Given the description of an element on the screen output the (x, y) to click on. 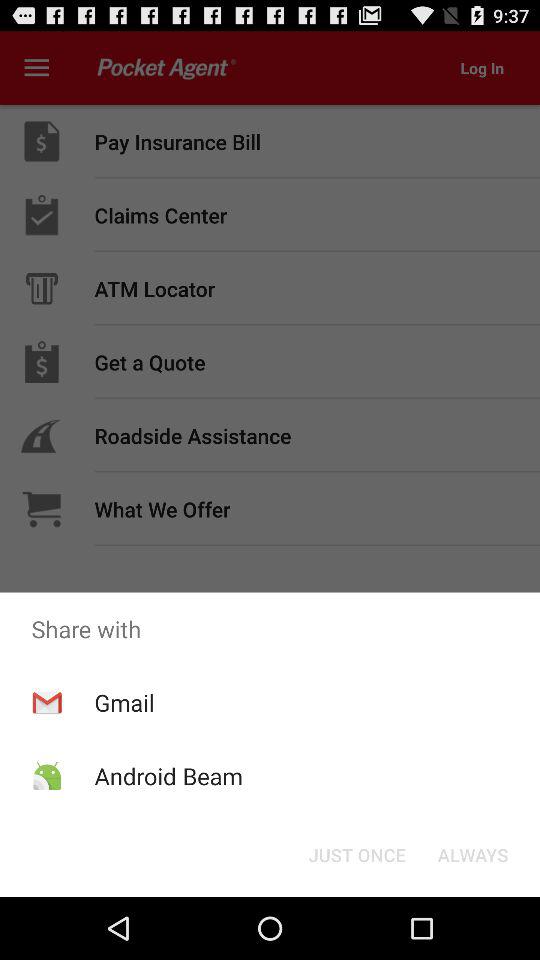
turn on the app below the share with (356, 854)
